Given the description of an element on the screen output the (x, y) to click on. 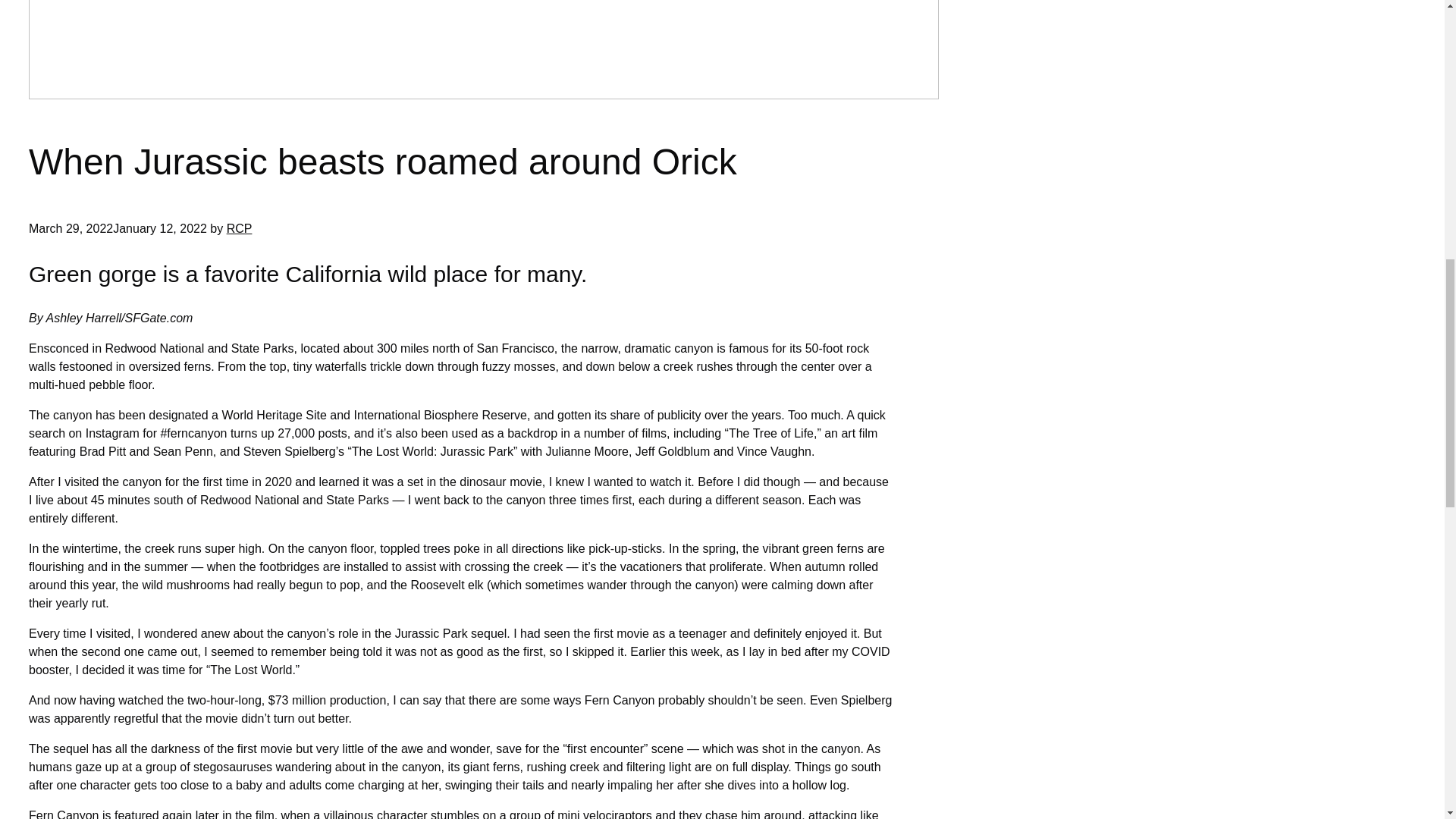
View all posts by RCP (239, 228)
RCP (239, 228)
